Given the description of an element on the screen output the (x, y) to click on. 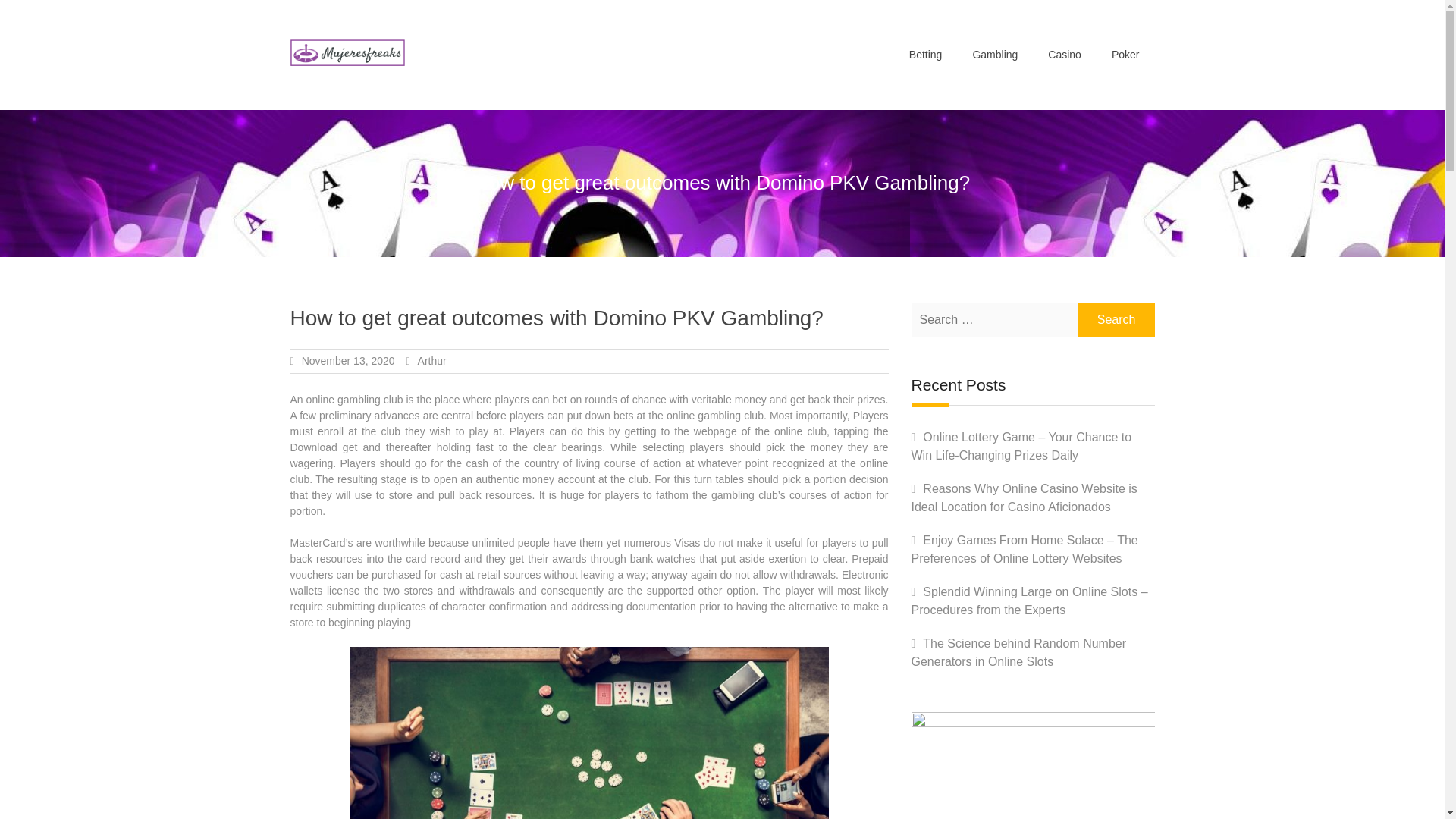
Betting (925, 55)
Poker (1125, 55)
Search (1116, 319)
November 13, 2020 (347, 360)
Arthur (431, 360)
Search (1116, 319)
Casino (1064, 55)
Search (1116, 319)
Gambling (994, 55)
